Given the description of an element on the screen output the (x, y) to click on. 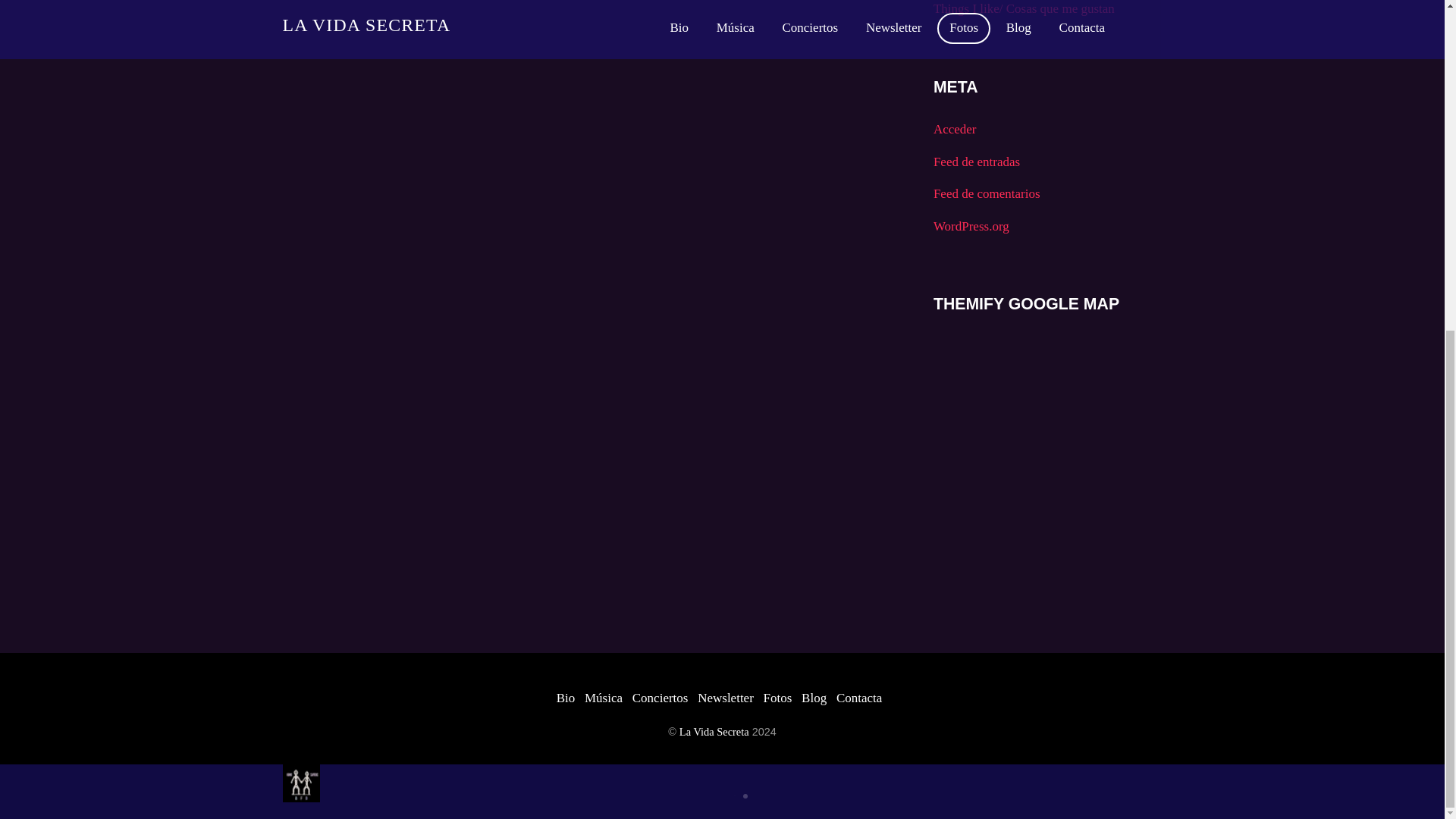
WordPress.org (971, 226)
Contacta (858, 698)
Blog (814, 698)
Fotos (777, 698)
Bio (565, 698)
Newsletter (725, 698)
Acceder (954, 129)
La Vida Secreta (714, 731)
Feed de entradas (976, 161)
Feed de comentarios (987, 193)
